Given the description of an element on the screen output the (x, y) to click on. 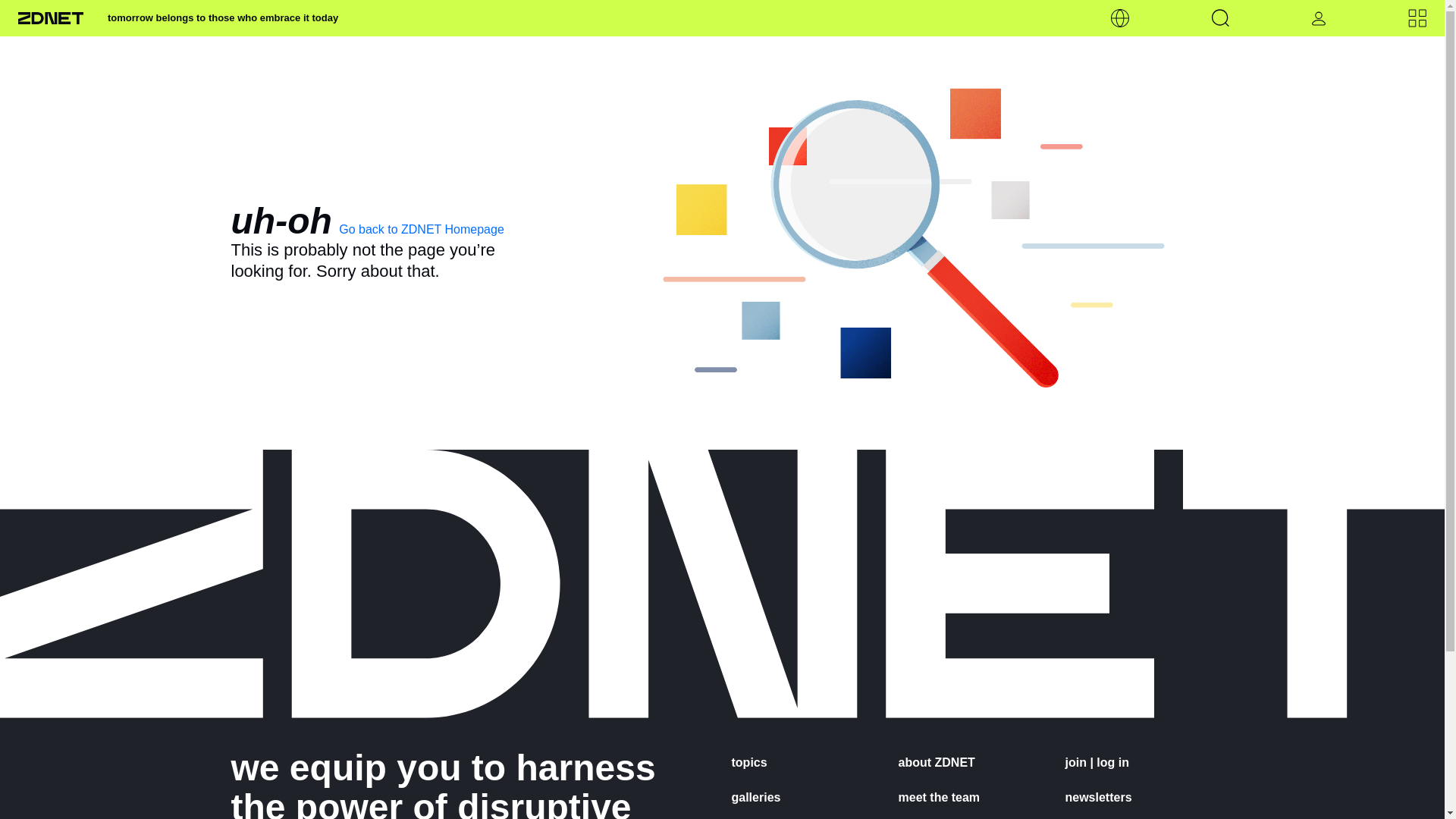
ZDNET (49, 18)
